Given the description of an element on the screen output the (x, y) to click on. 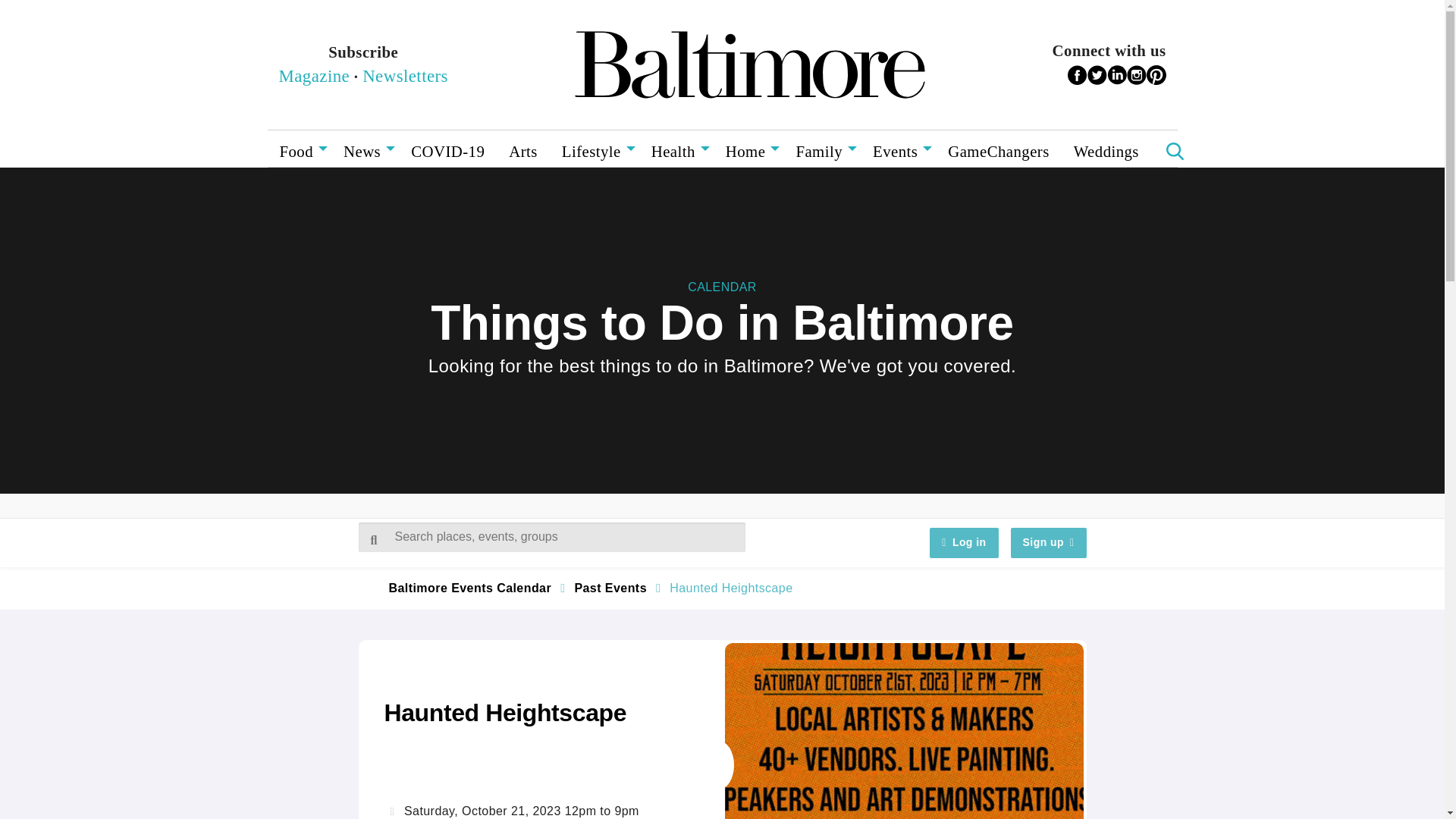
News (364, 148)
COVID-19 (447, 148)
Newsletters (405, 75)
Health (676, 148)
Magazine (314, 75)
Shape Created with Sketch. (1096, 75)
Arts (523, 148)
linkedin Created with Sketch. (1116, 75)
iconmonstr-pinterest-1 Created with Sketch. (1156, 75)
instagram-logo Created with Sketch. (1136, 75)
Home (748, 148)
Food (298, 148)
Lifestyle (594, 148)
